Given the description of an element on the screen output the (x, y) to click on. 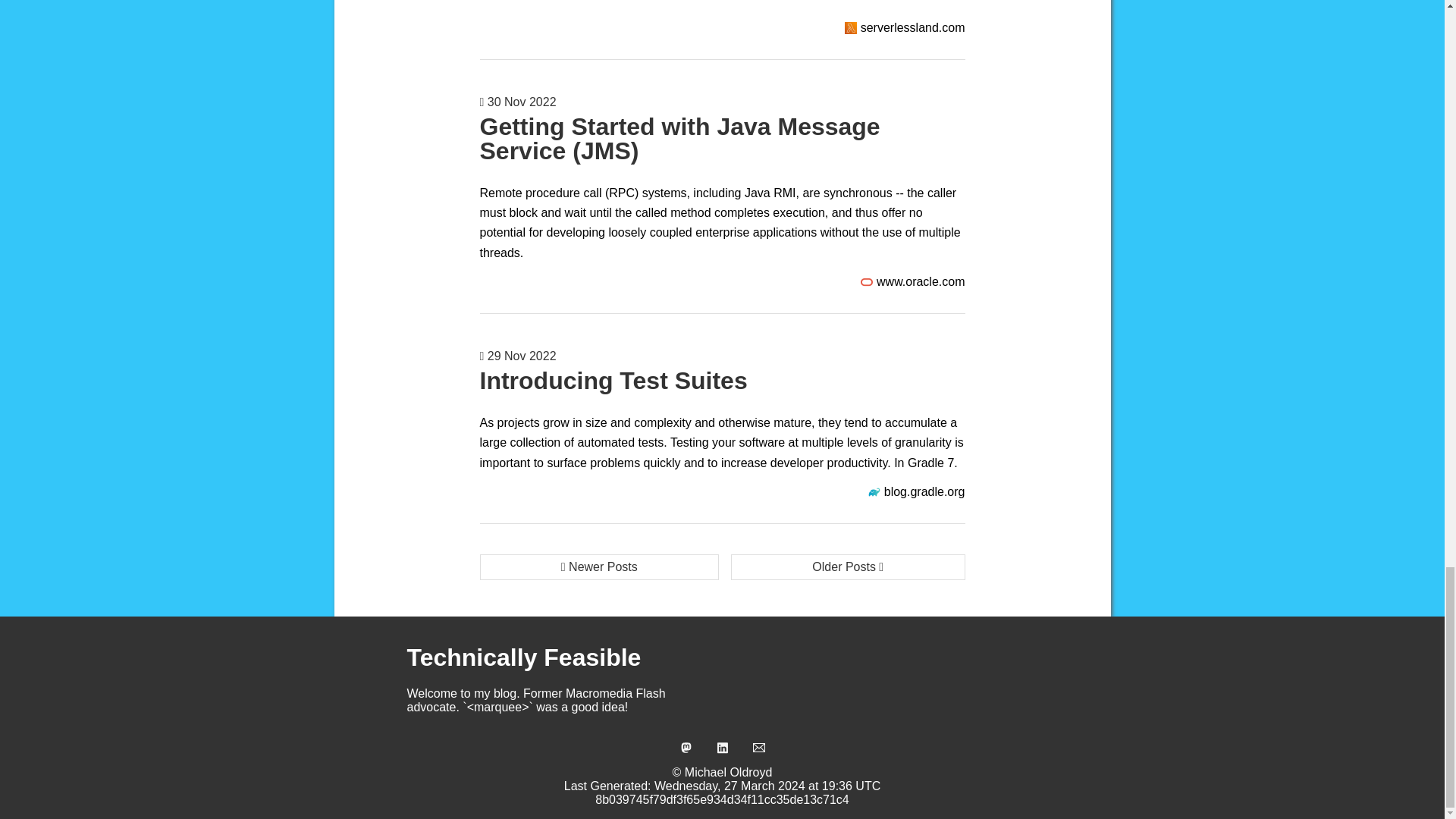
Technically Feasible (523, 656)
LinkedIn (722, 747)
Mastodon (685, 747)
E-mail (758, 747)
